Given the description of an element on the screen output the (x, y) to click on. 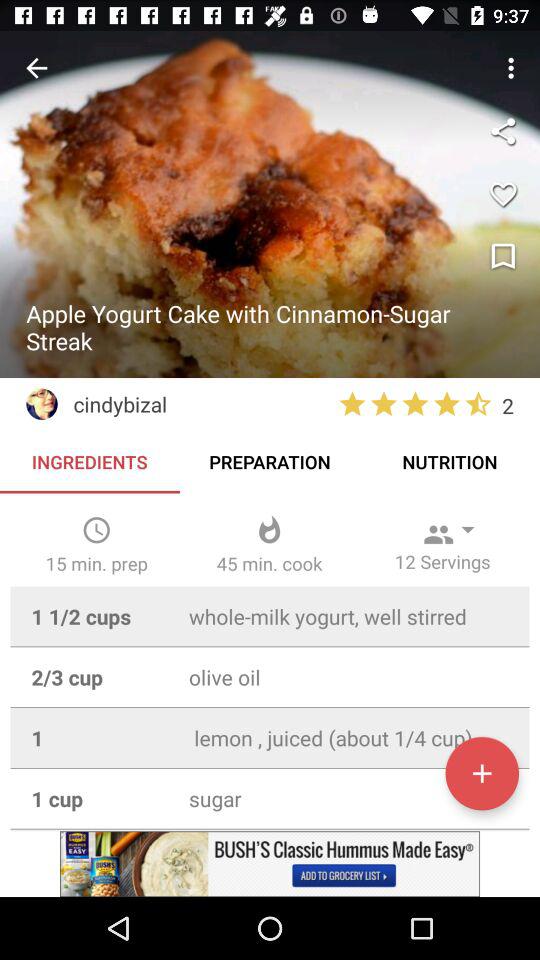
save favorite (503, 194)
